Given the description of an element on the screen output the (x, y) to click on. 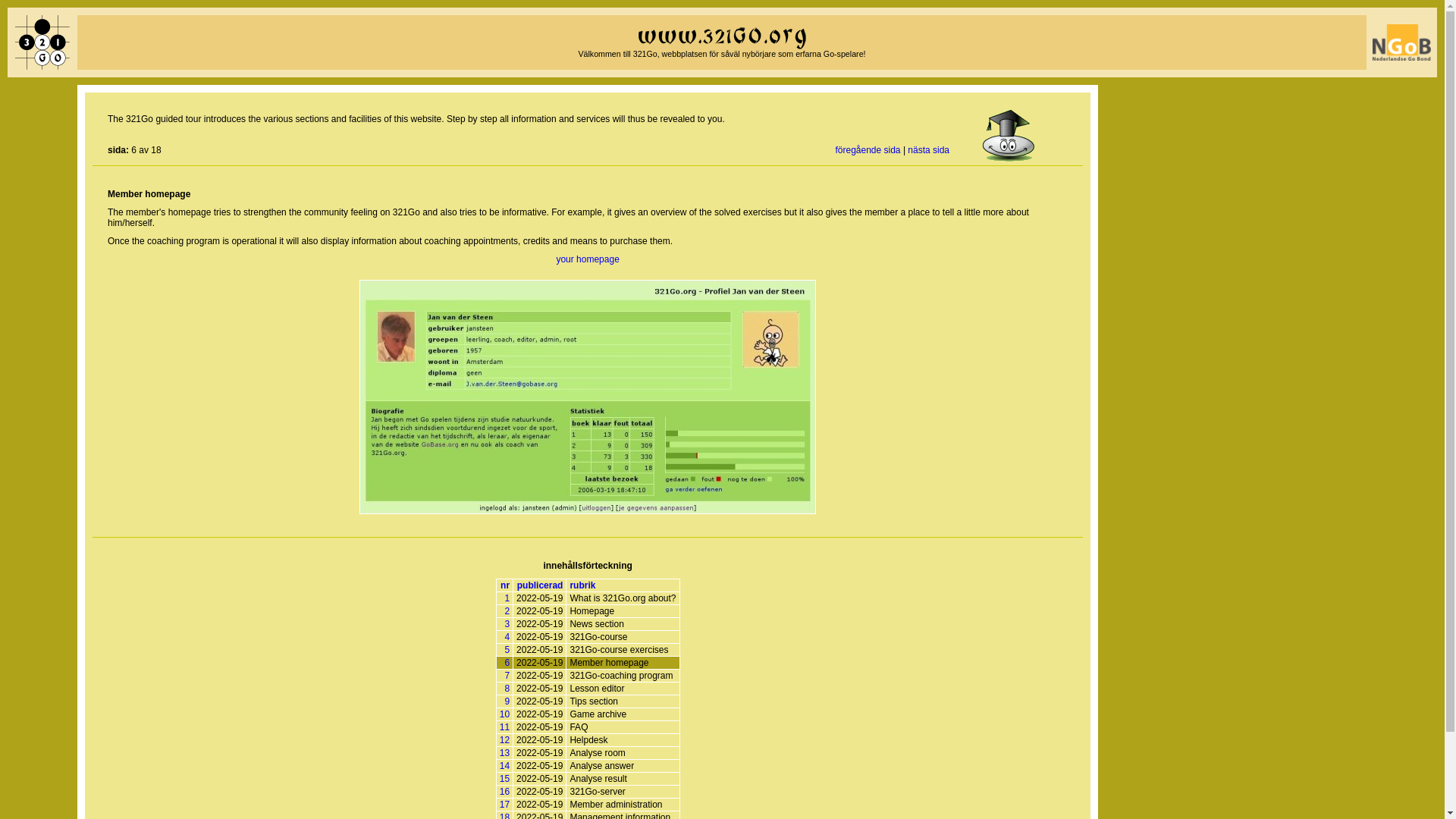
5 (506, 649)
6 (506, 662)
3 (506, 624)
12 (504, 739)
14 (504, 765)
16 (504, 791)
15 (504, 778)
11 (504, 726)
2 (506, 611)
1 (506, 597)
7 (506, 675)
your homepage (587, 258)
8 (506, 688)
rubrik (582, 584)
13 (504, 752)
